Given the description of an element on the screen output the (x, y) to click on. 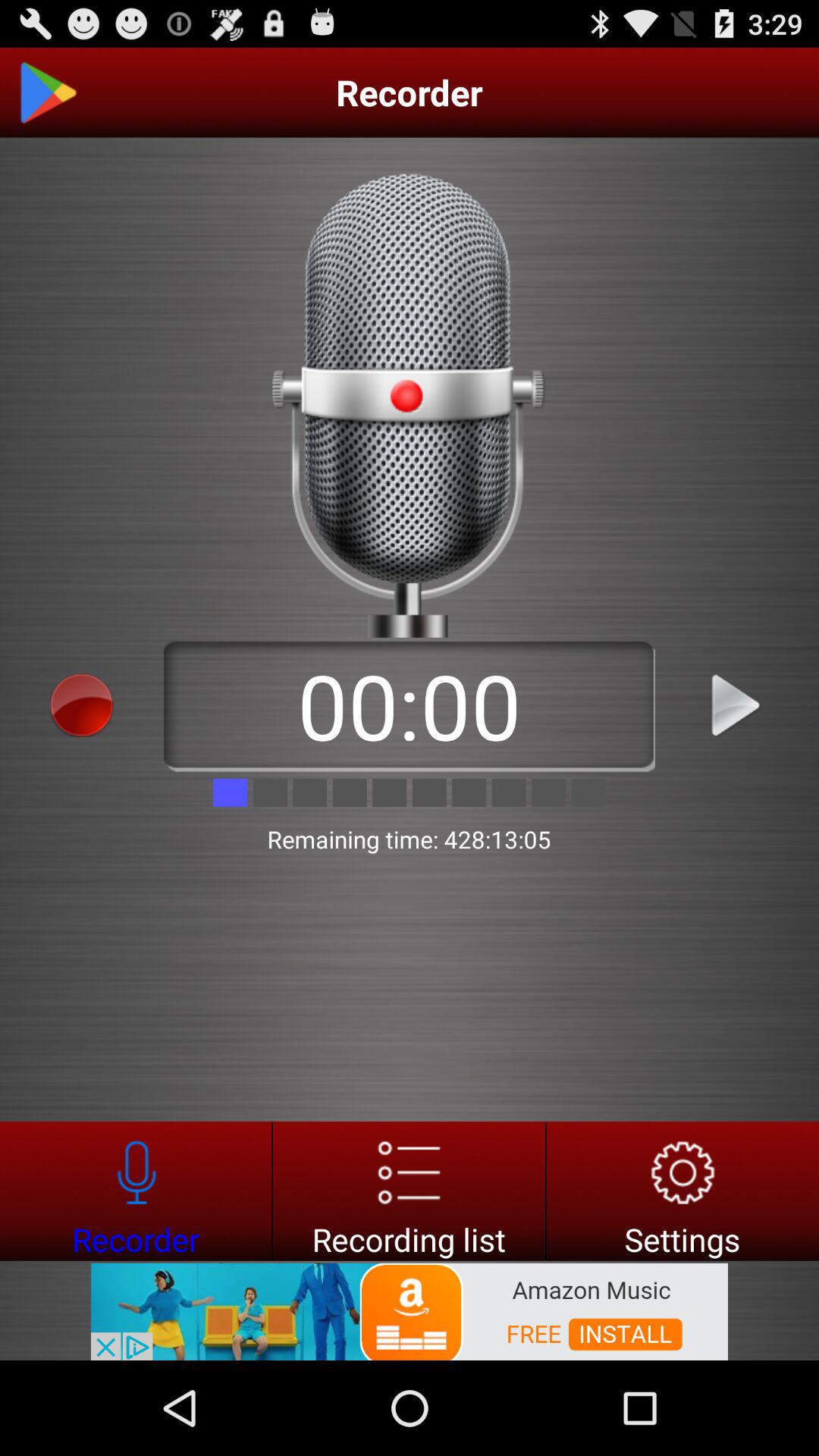
switch autoplay option (47, 92)
